Given the description of an element on the screen output the (x, y) to click on. 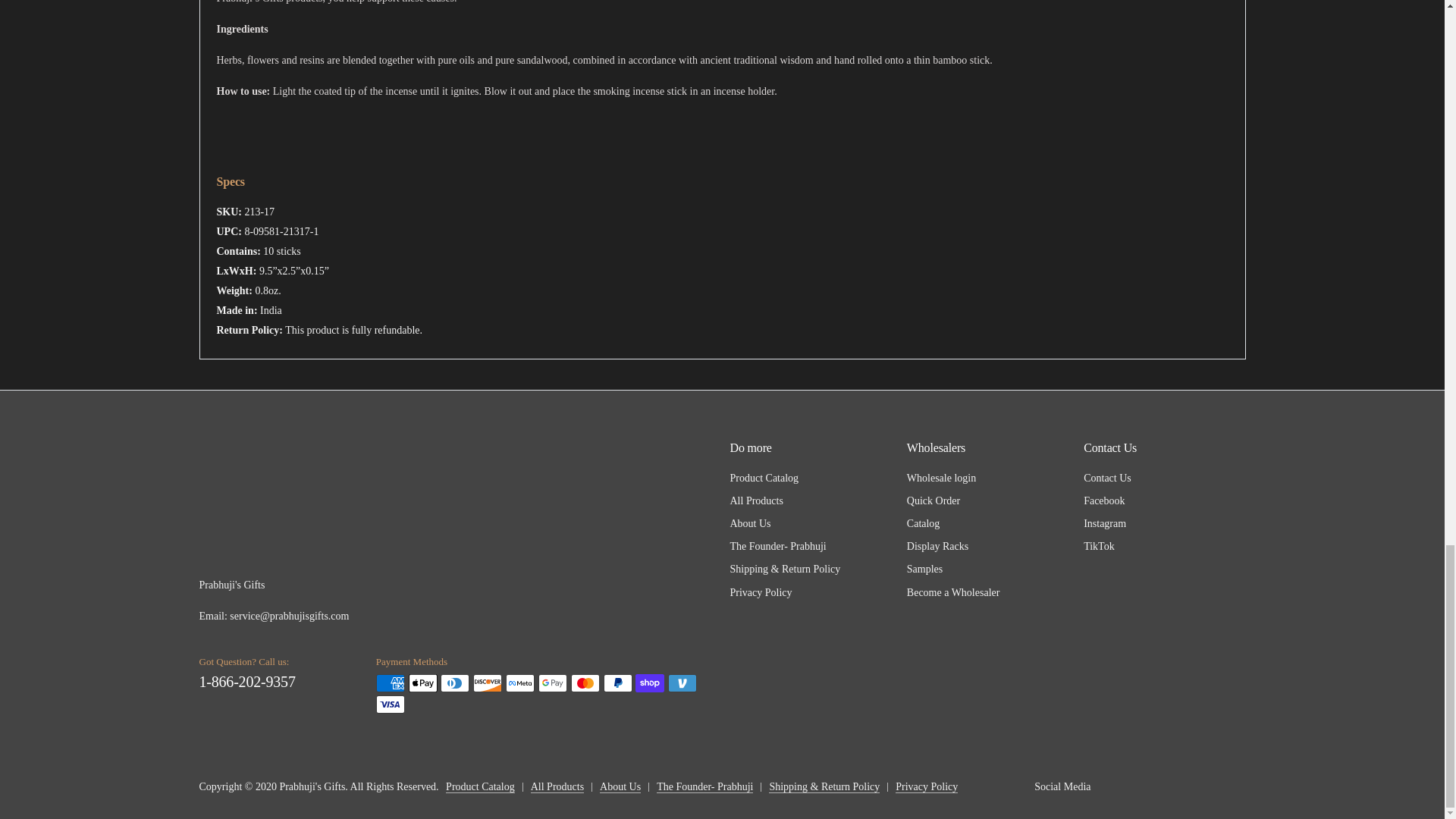
Venmo (682, 683)
Apple Pay (423, 683)
Discover (487, 683)
Meta Pay (519, 683)
Shop Pay (648, 683)
PayPal (617, 683)
Google Pay (552, 683)
American Express (389, 683)
Visa (389, 704)
Diners Club (454, 683)
Mastercard (584, 683)
